Given the description of an element on the screen output the (x, y) to click on. 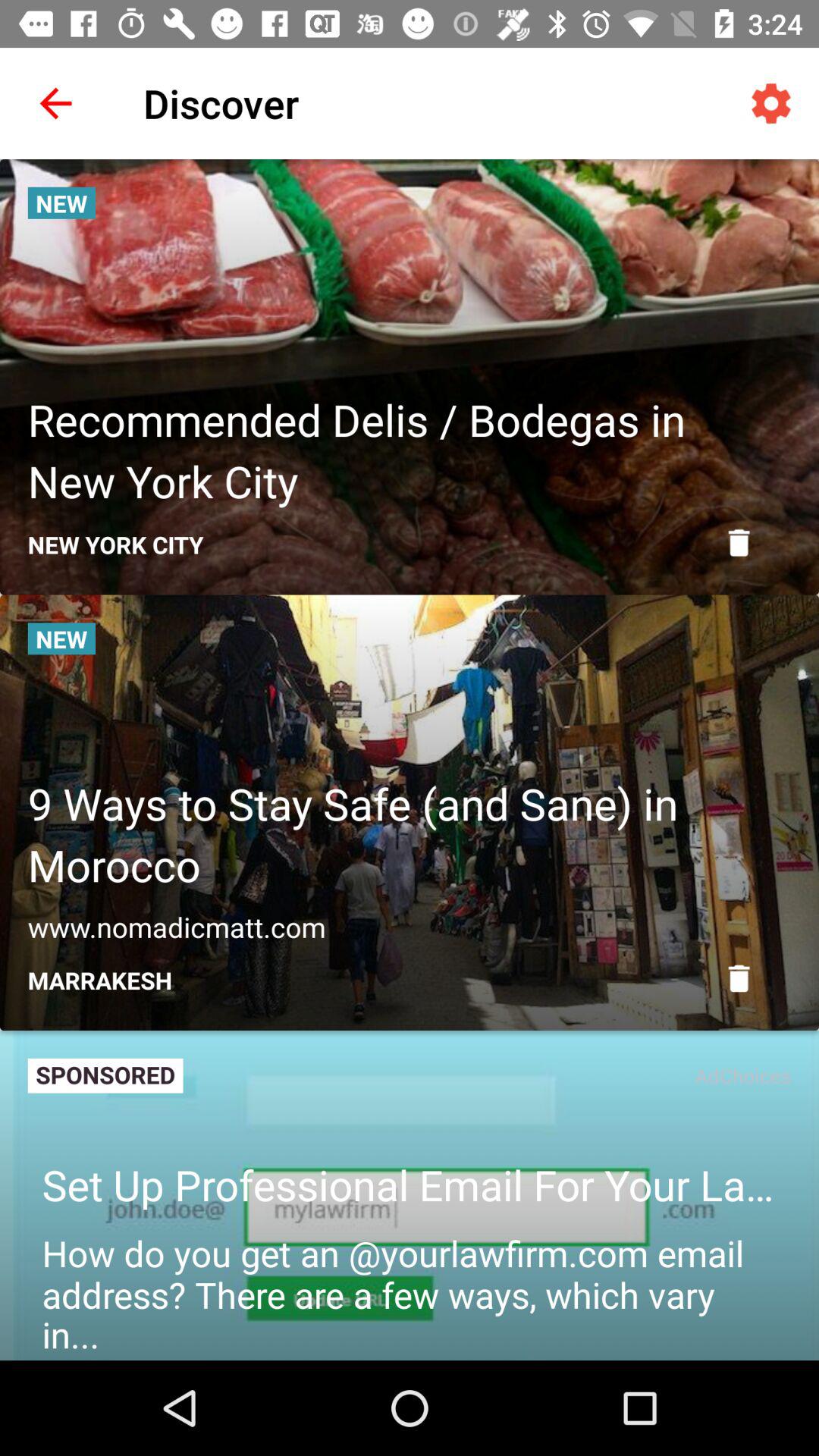
delete (739, 978)
